Given the description of an element on the screen output the (x, y) to click on. 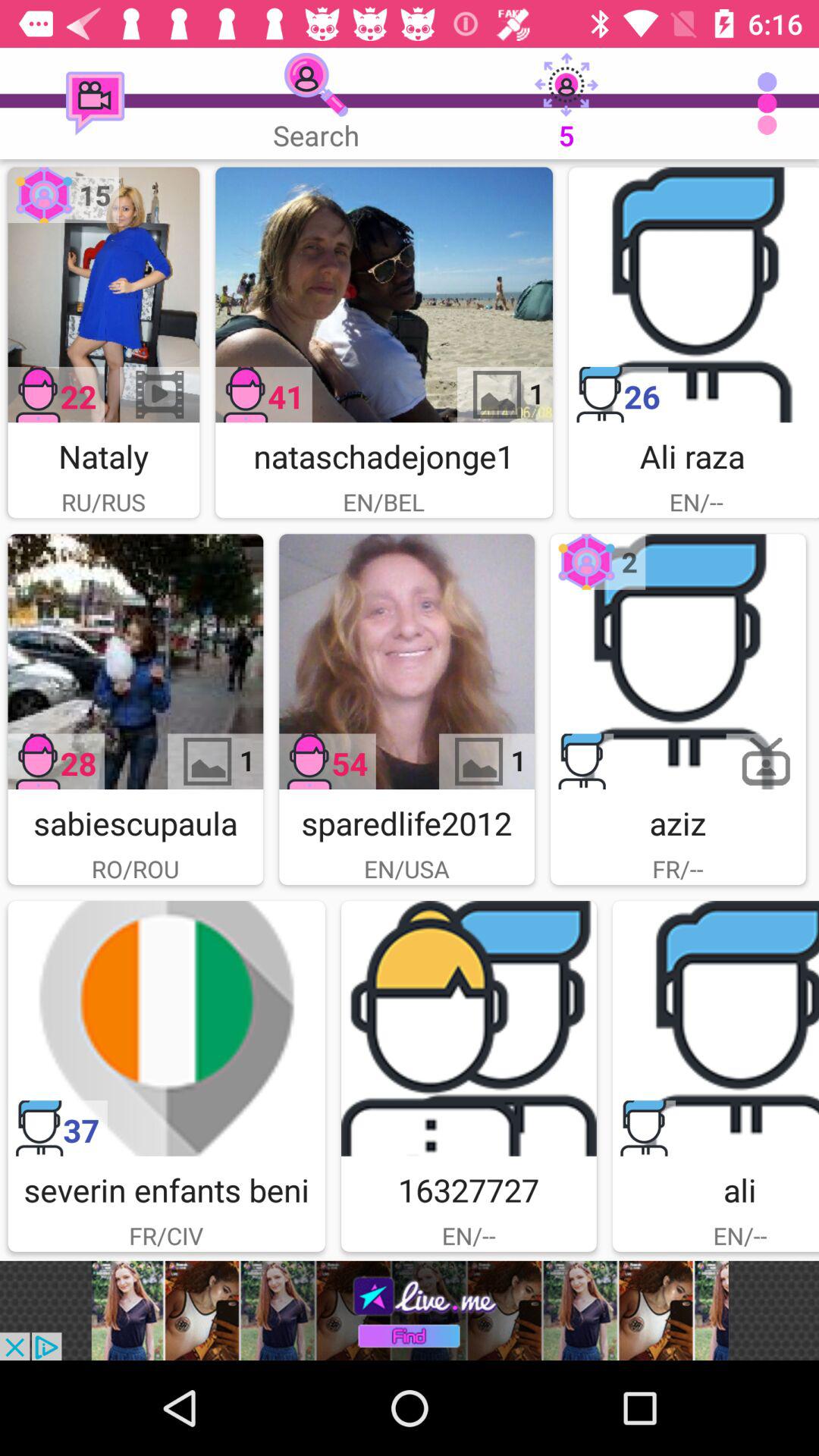
advertisement (409, 1310)
